Given the description of an element on the screen output the (x, y) to click on. 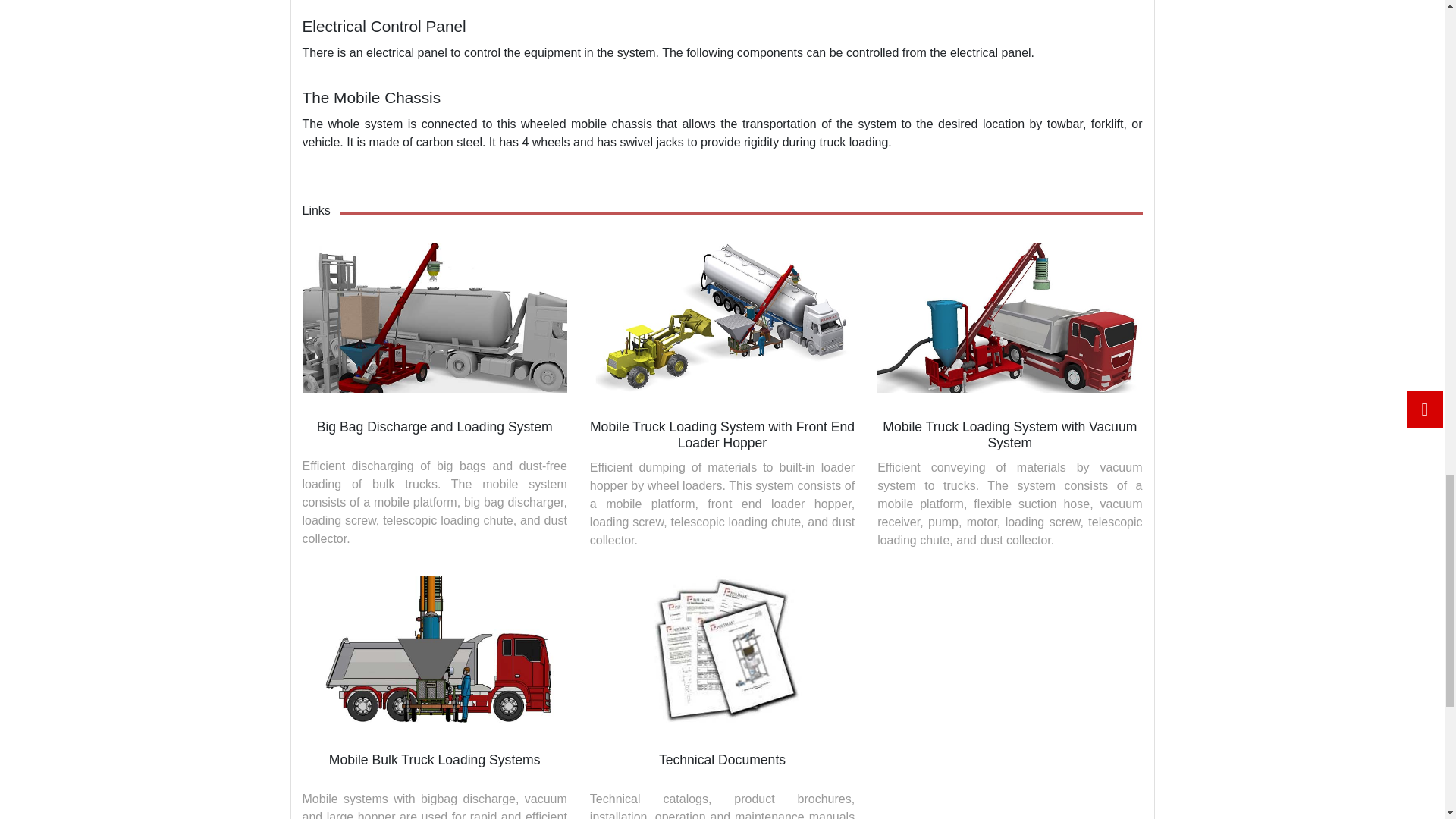
Big Bag Discharge and Loading System (435, 426)
Mobile Truck Loading System with Vacuum System (1009, 434)
mobile bulk truck loading systems (433, 650)
Mobile Bulk Truck Loading Systems Technical Documents (722, 759)
Mobile Truck Loading System with Front End Loader Hopper (721, 434)
Mobile Truck Loading System with Vacuum System (1009, 317)
Technical Documents (721, 650)
Mobile Truck Loading System with Front End Loader Hopper (721, 317)
